Given the description of an element on the screen output the (x, y) to click on. 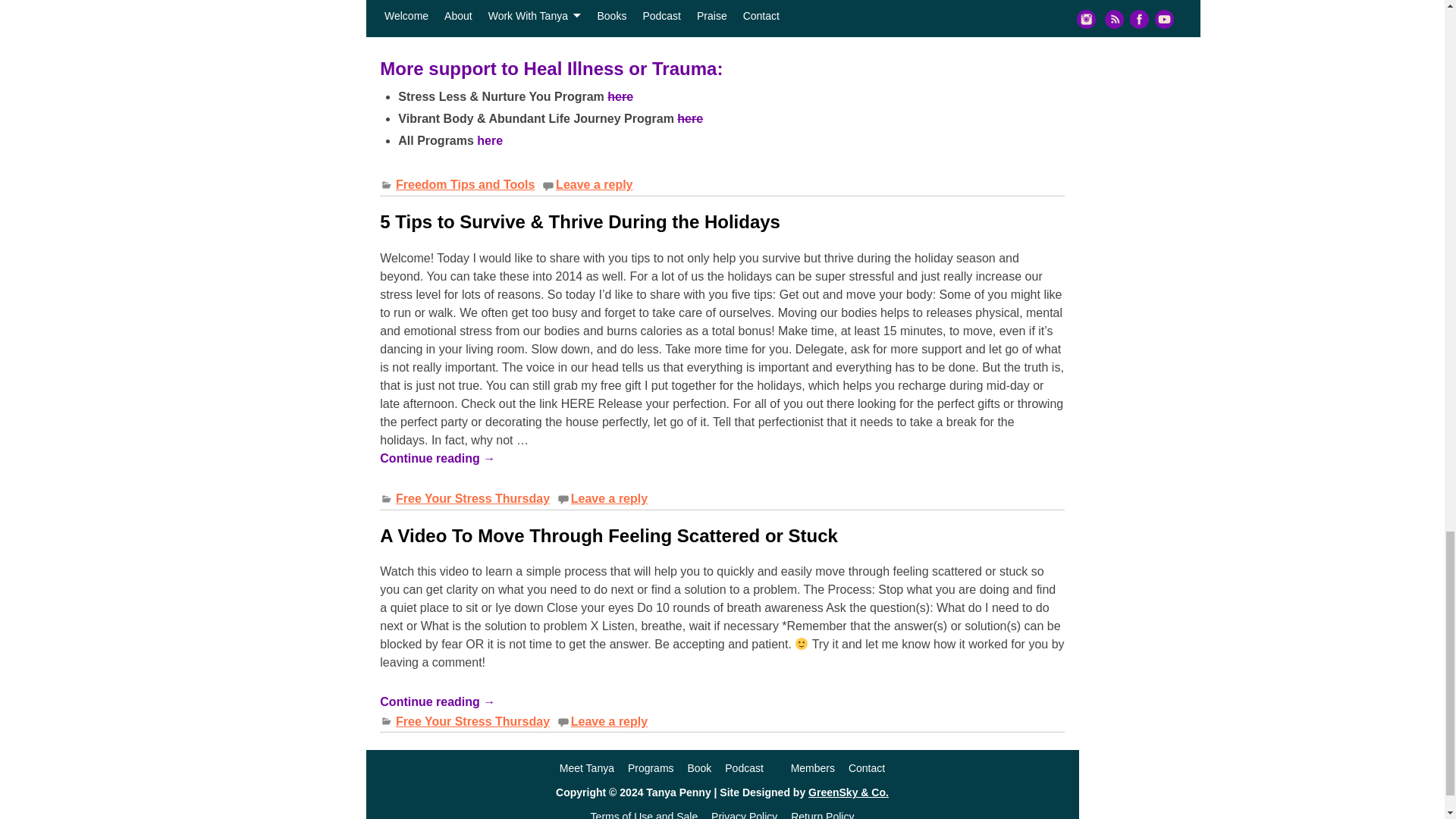
here (690, 118)
Contact (866, 767)
here (620, 96)
here (489, 140)
Book (699, 767)
Podcast (743, 767)
Meet Tanya (586, 767)
Programs (650, 767)
Freedom Tips and Tools (465, 184)
Members (812, 767)
